Given the description of an element on the screen output the (x, y) to click on. 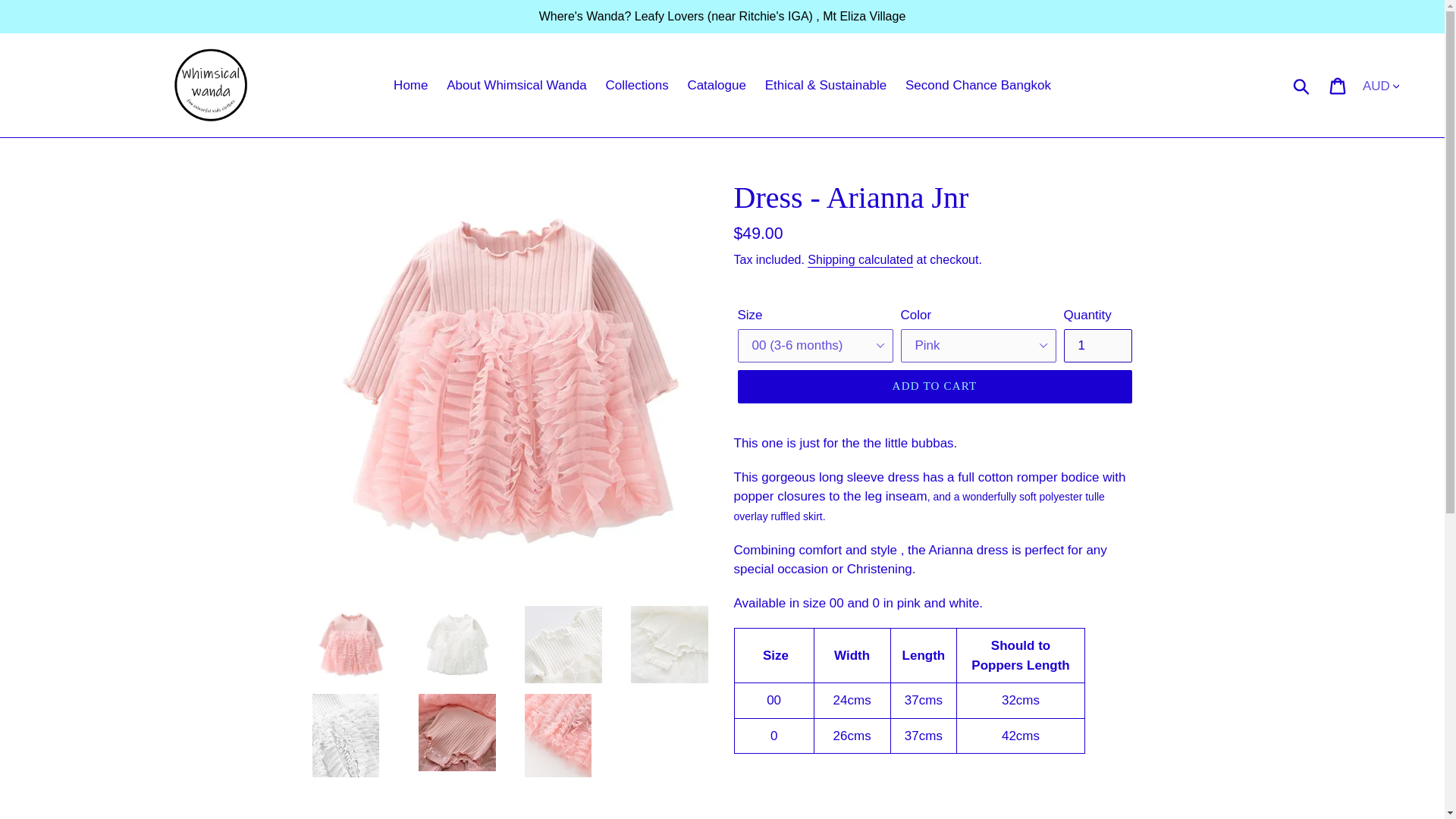
1 (1096, 345)
Cart (1338, 85)
About Whimsical Wanda (516, 85)
Home (410, 85)
Collections (635, 85)
Shipping calculated (860, 260)
Catalogue (716, 85)
Submit (1302, 84)
ADD TO CART (933, 386)
Second Chance Bangkok (978, 85)
